Given the description of an element on the screen output the (x, y) to click on. 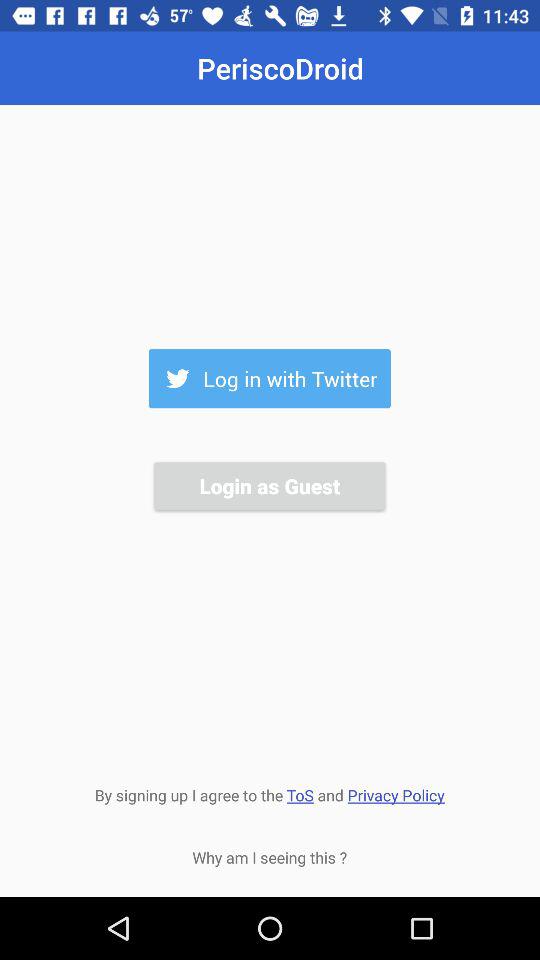
open why am i icon (269, 857)
